Given the description of an element on the screen output the (x, y) to click on. 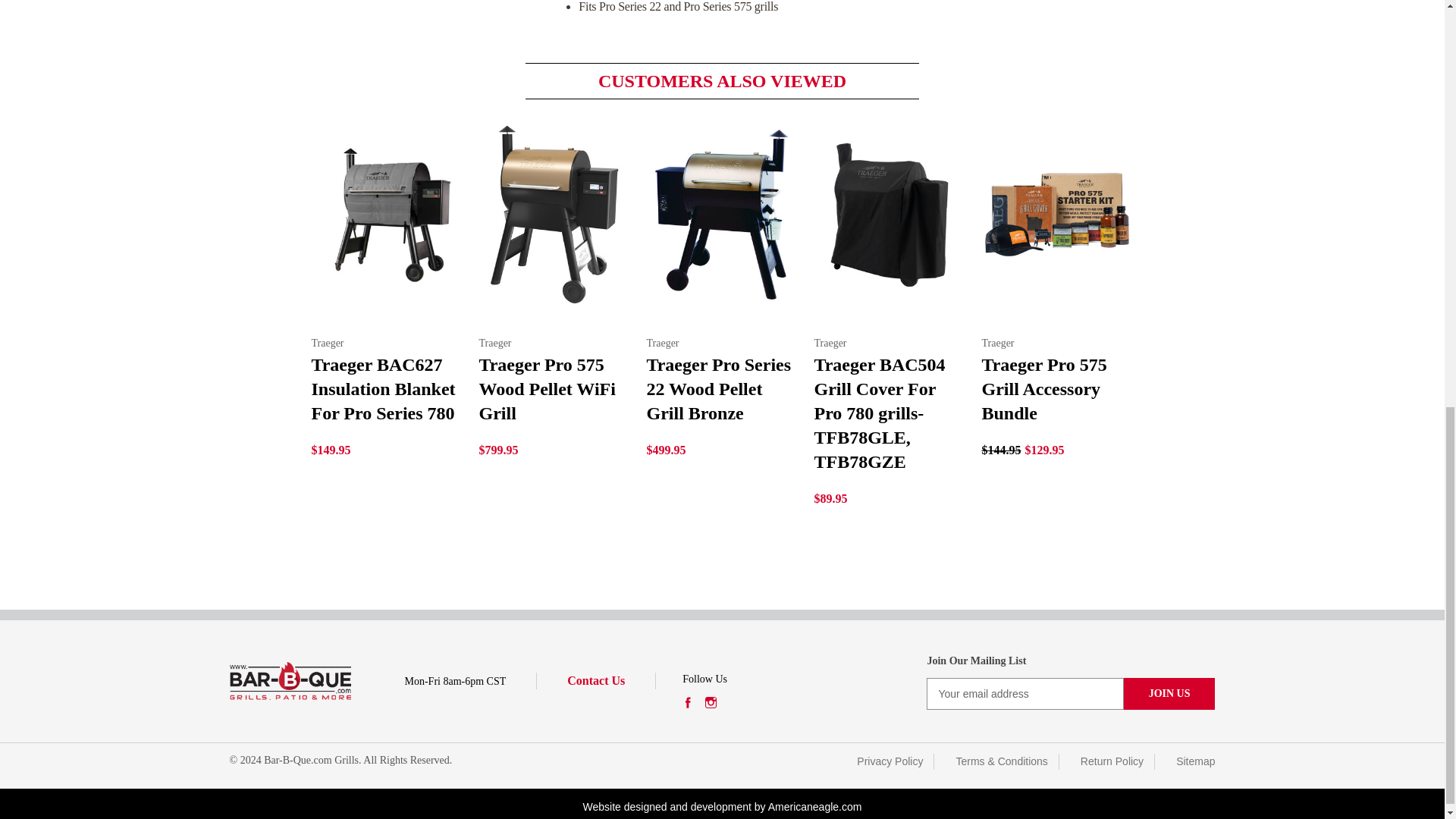
Traeger Pro 575 Grill Accessory Bundle (1057, 214)
Join Us (1169, 694)
Traeger BAC627 Insulation Blanket For Pro Series 780 (386, 214)
Bar-B-Que.com (289, 681)
